Given the description of an element on the screen output the (x, y) to click on. 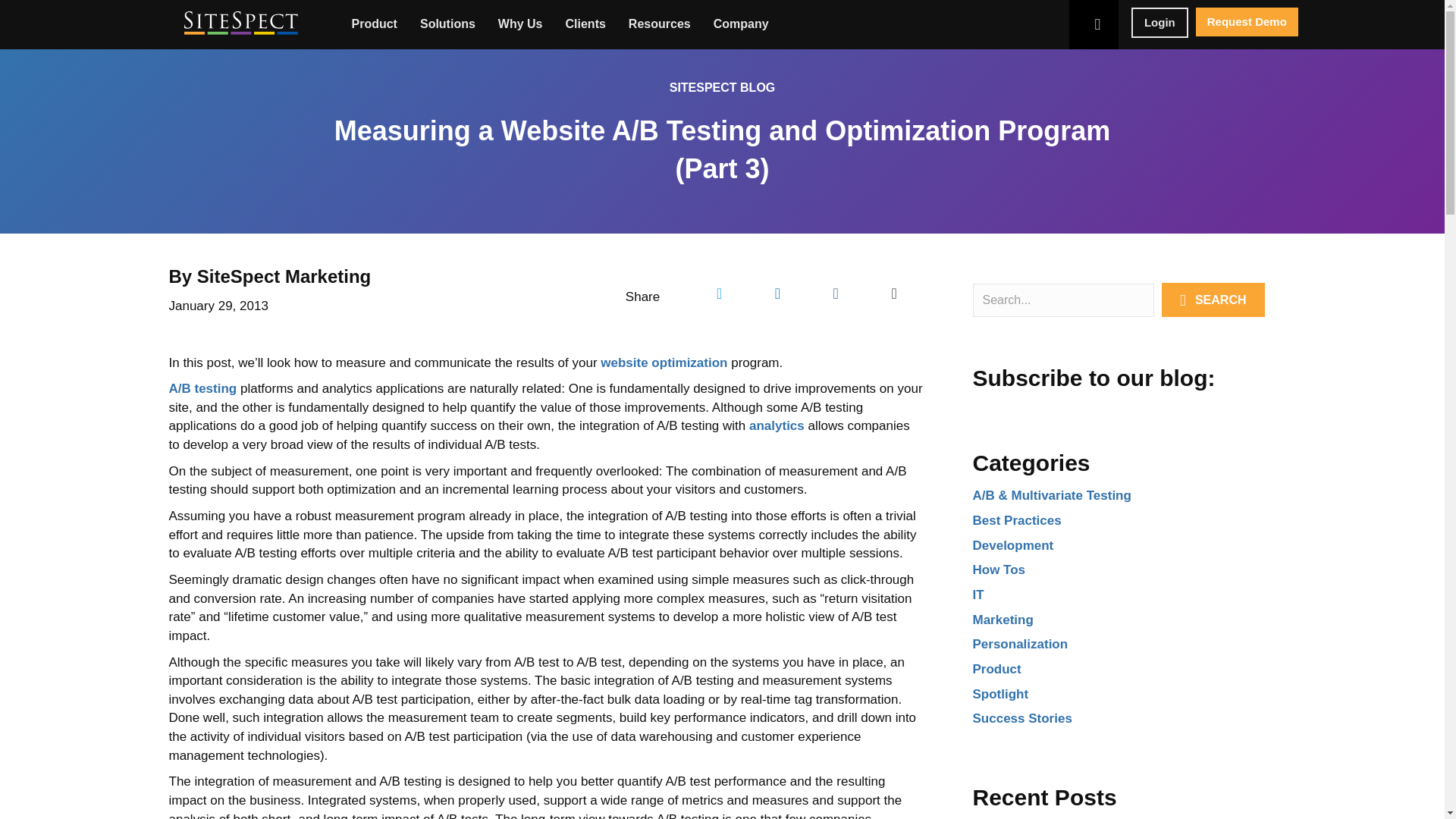
Resources (663, 23)
Clients (589, 23)
Why Us (523, 23)
Product (377, 23)
Solutions (451, 23)
